Given the description of an element on the screen output the (x, y) to click on. 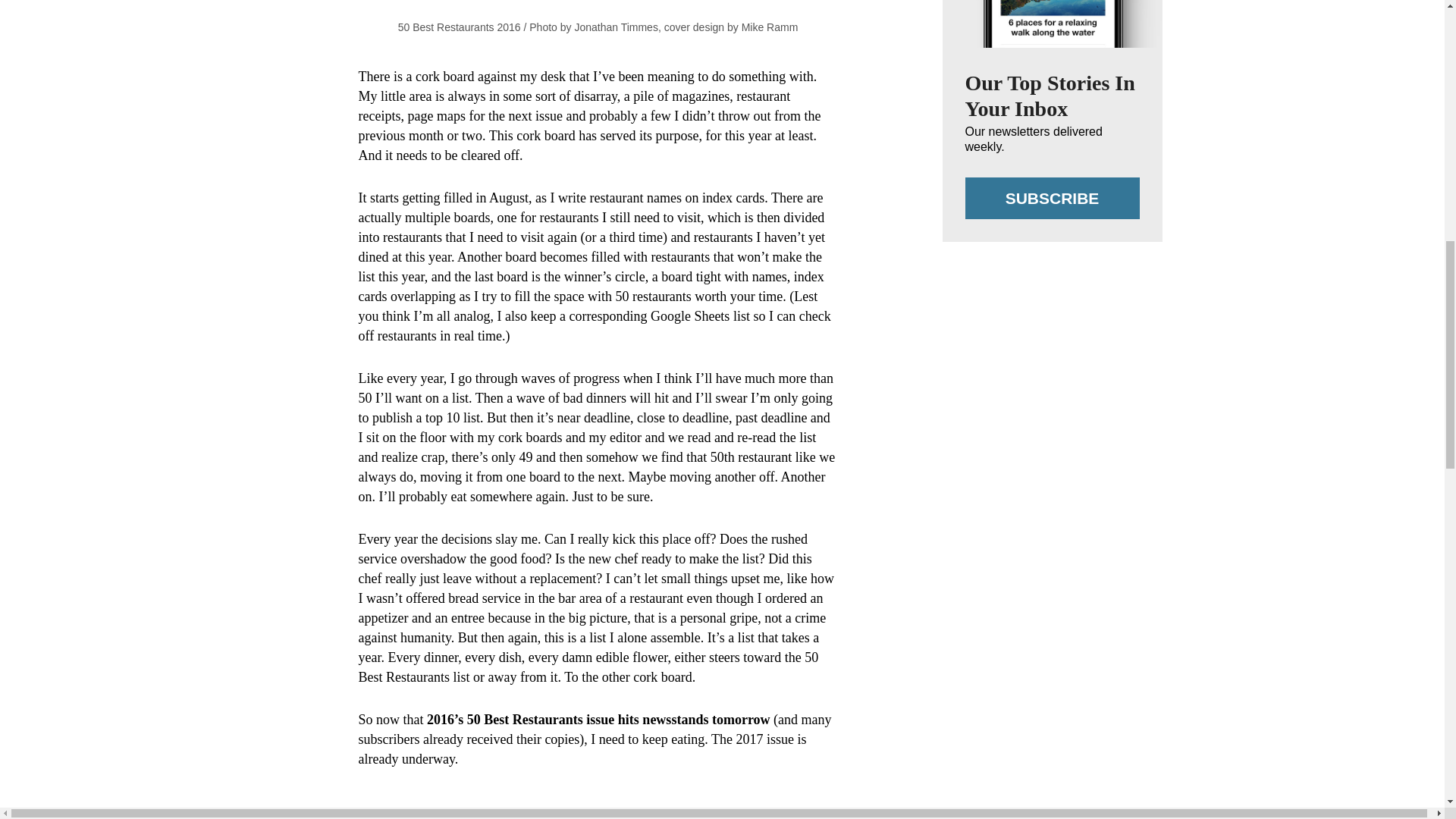
3rd party ad content (1052, 786)
SUBSCRIBE (1050, 198)
